Given the description of an element on the screen output the (x, y) to click on. 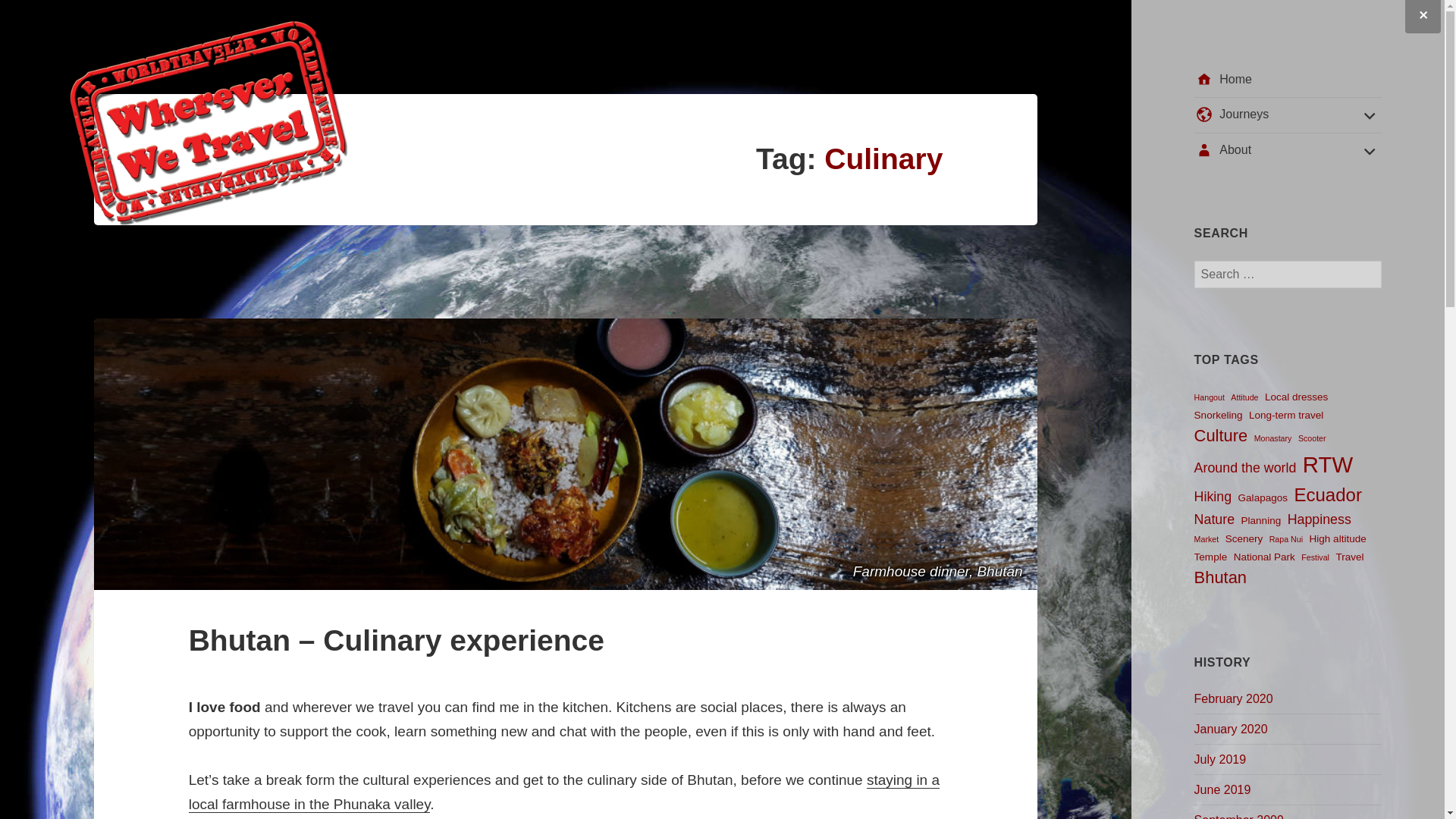
RTW (1327, 464)
Festival (1315, 557)
Travel (1349, 556)
Galapagos (1262, 497)
Scooter (1312, 438)
Scenery (1244, 538)
About (1286, 150)
Rapa Nui (1286, 539)
Attitude (1243, 397)
Long-term travel (1286, 414)
July 2019 (1220, 759)
Planning (1261, 520)
National Park (1264, 556)
January 2020 (1231, 729)
